Given the description of an element on the screen output the (x, y) to click on. 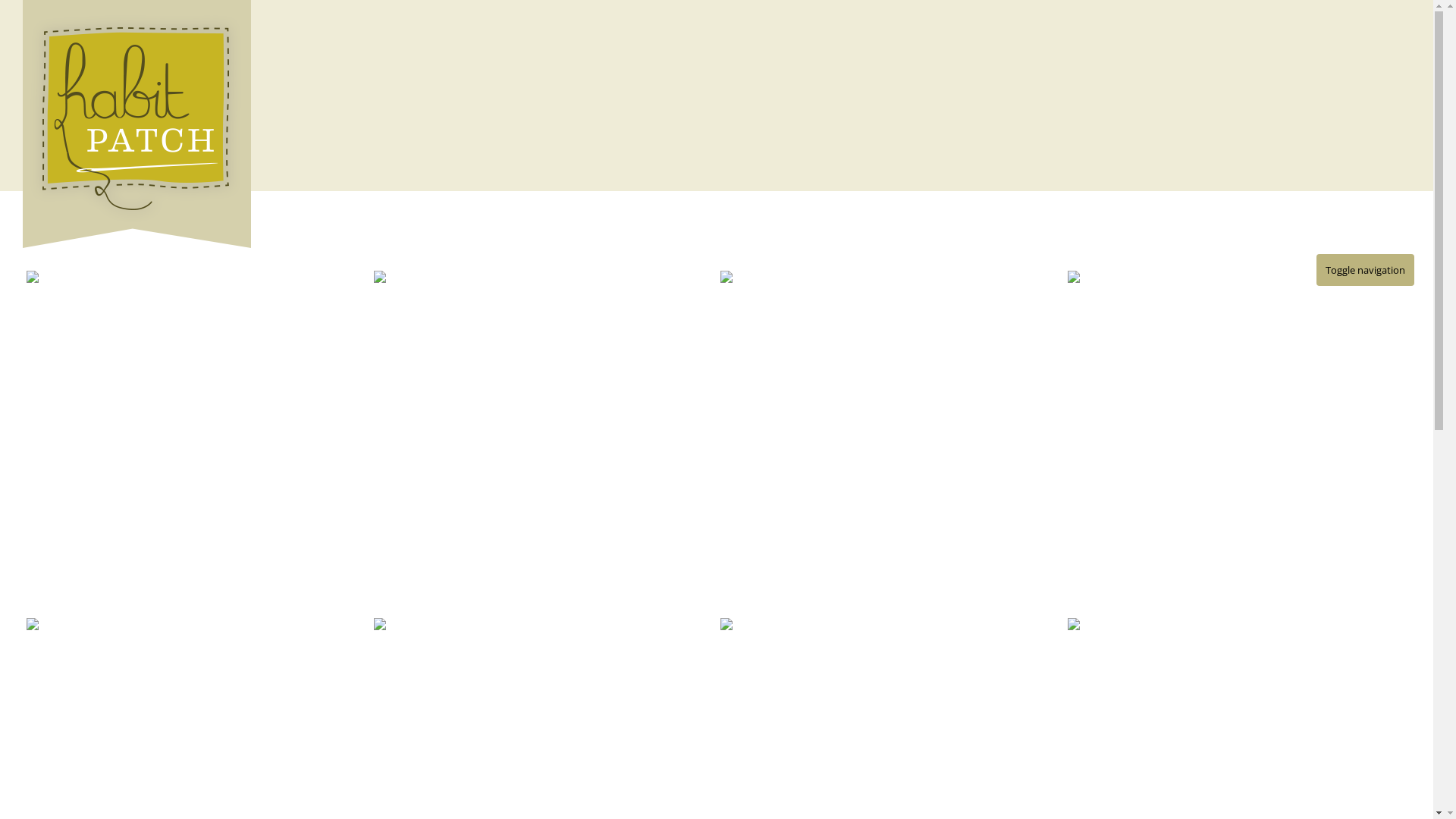
About Element type: text (1191, 362)
Toggle navigation Element type: text (1365, 269)
Contact Element type: text (1273, 362)
Welcome Element type: text (1103, 362)
